Given the description of an element on the screen output the (x, y) to click on. 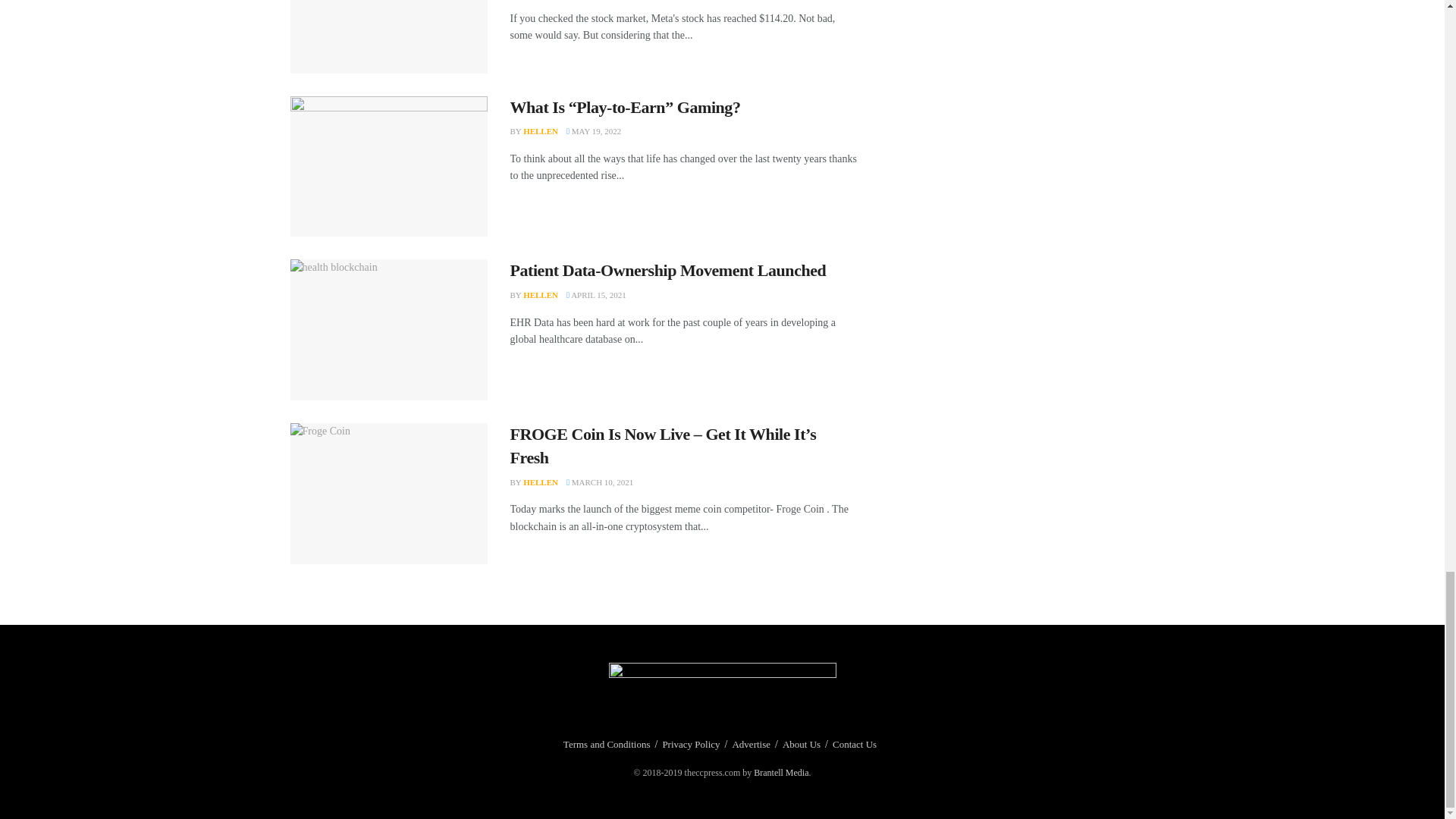
Brantell Media (781, 772)
